Given the description of an element on the screen output the (x, y) to click on. 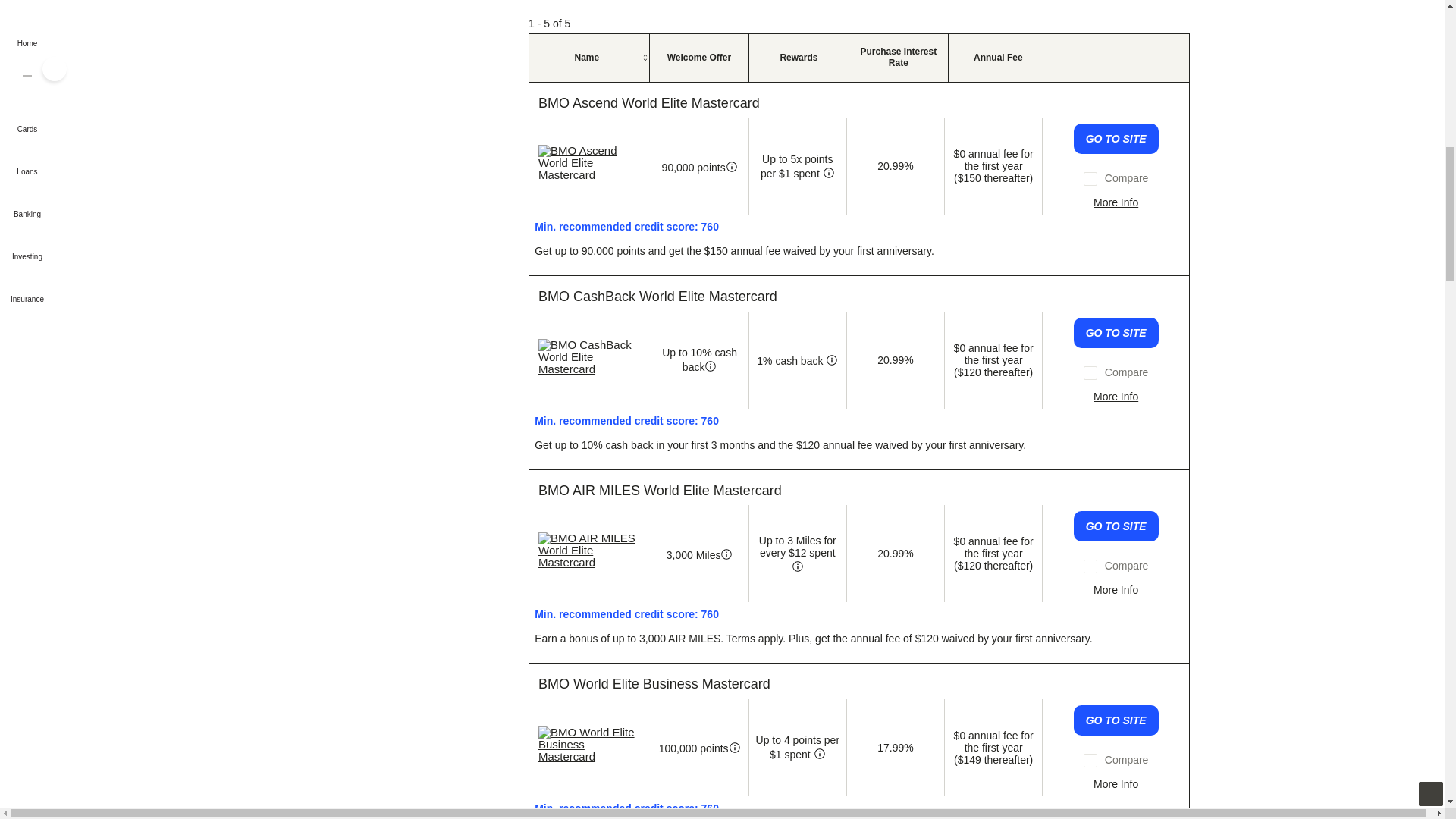
Visit BMO (649, 102)
Visit BMO (590, 357)
Read More About The BMO CashBack World Elite Mastercard (1116, 396)
Rewards (828, 173)
Rewards (831, 360)
Read More About The BMO Ascend World Elite Mastercard (1116, 202)
Visit BMO (659, 490)
